Given the description of an element on the screen output the (x, y) to click on. 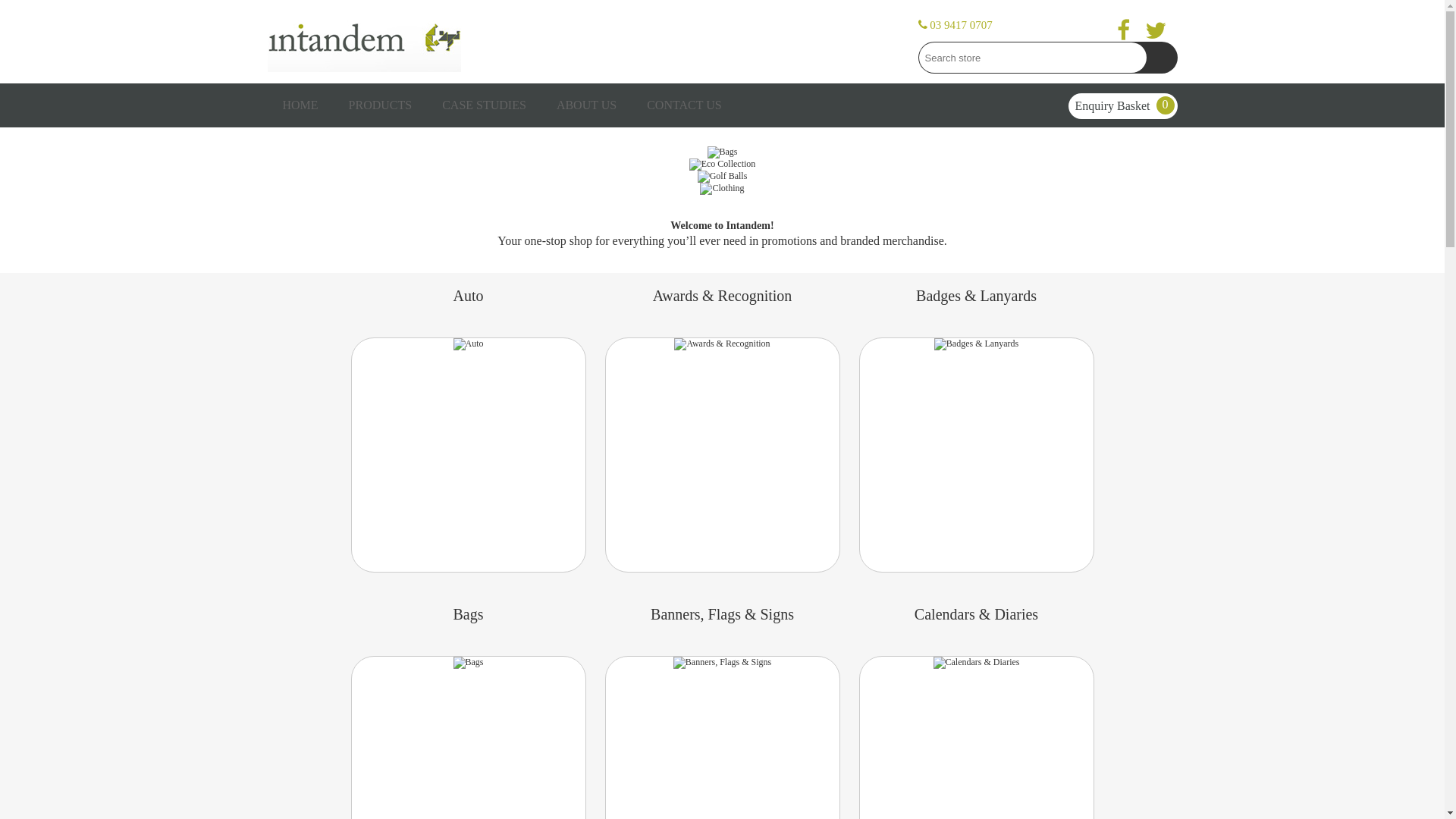
Bags Element type: hover (468, 662)
Calendars & Diaries Element type: hover (976, 662)
Awards & Recognition Element type: hover (721, 344)
PRODUCTS Element type: text (380, 105)
Banners, Flags & Signs Element type: text (722, 614)
Awards & Recognition Element type: hover (721, 344)
CONTACT US Element type: text (683, 105)
Awards & Recognition Element type: text (722, 295)
Search Element type: text (1161, 57)
Badges & Lanyards Element type: text (975, 295)
ABOUT US Element type: text (586, 105)
Bags Element type: hover (468, 662)
Calendars & Diaries Element type: hover (976, 662)
Badges & Lanyards Element type: hover (976, 344)
HOME Element type: text (299, 105)
Banners, Flags & Signs Element type: hover (722, 662)
Auto Element type: text (467, 295)
Calendars & Diaries Element type: text (975, 614)
Banners, Flags & Signs Element type: hover (721, 662)
Badges & Lanyards Element type: hover (976, 344)
03 9417 0707 Element type: text (954, 24)
Bags Element type: text (467, 614)
CASE STUDIES Element type: text (483, 105)
Auto Element type: hover (468, 344)
Auto Element type: hover (468, 344)
